Given the description of an element on the screen output the (x, y) to click on. 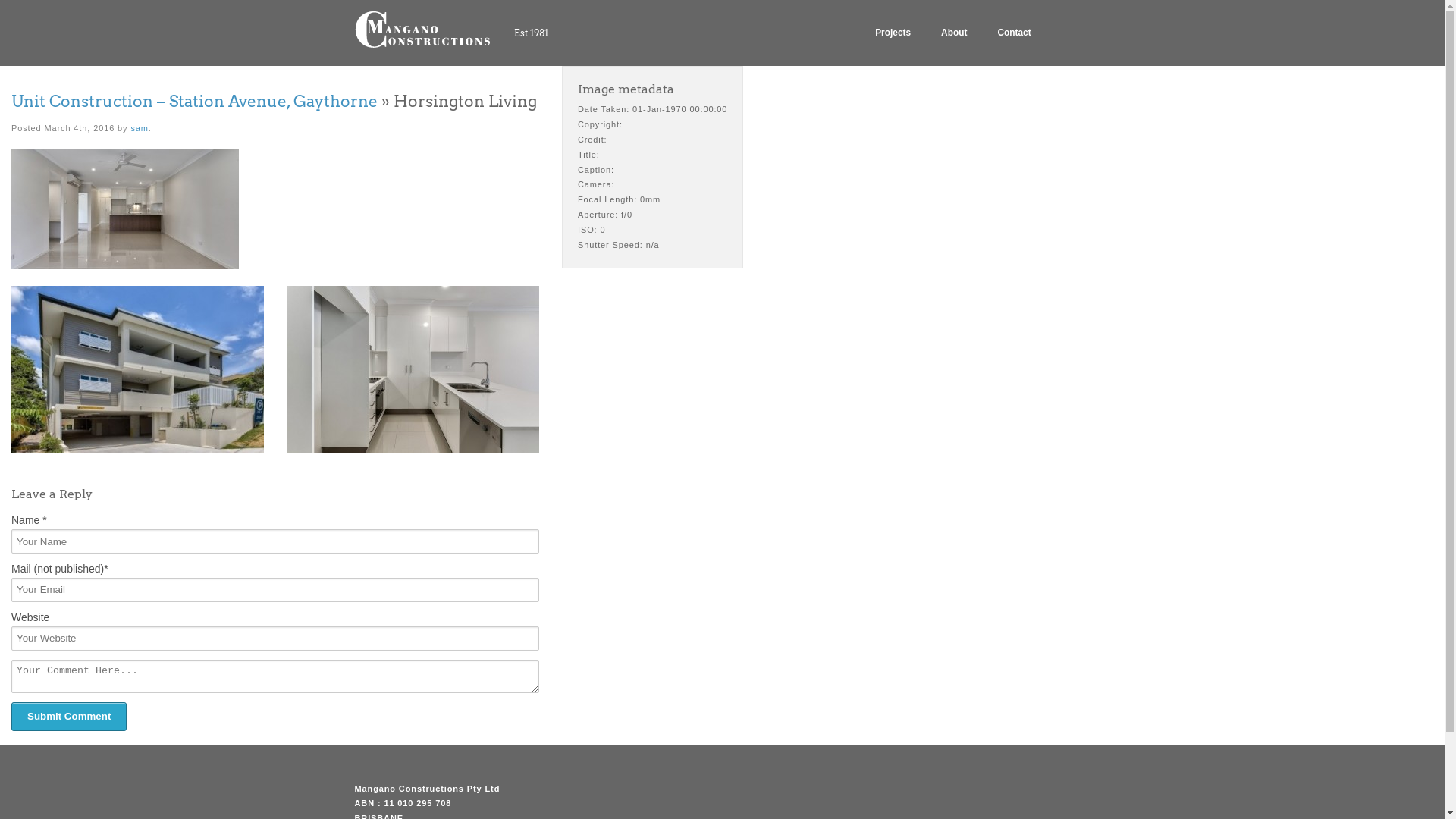
Contact Element type: text (1013, 32)
Projects Element type: text (892, 32)
About Element type: text (953, 32)
sam Element type: text (138, 127)
Submit Comment Element type: text (68, 716)
